Given the description of an element on the screen output the (x, y) to click on. 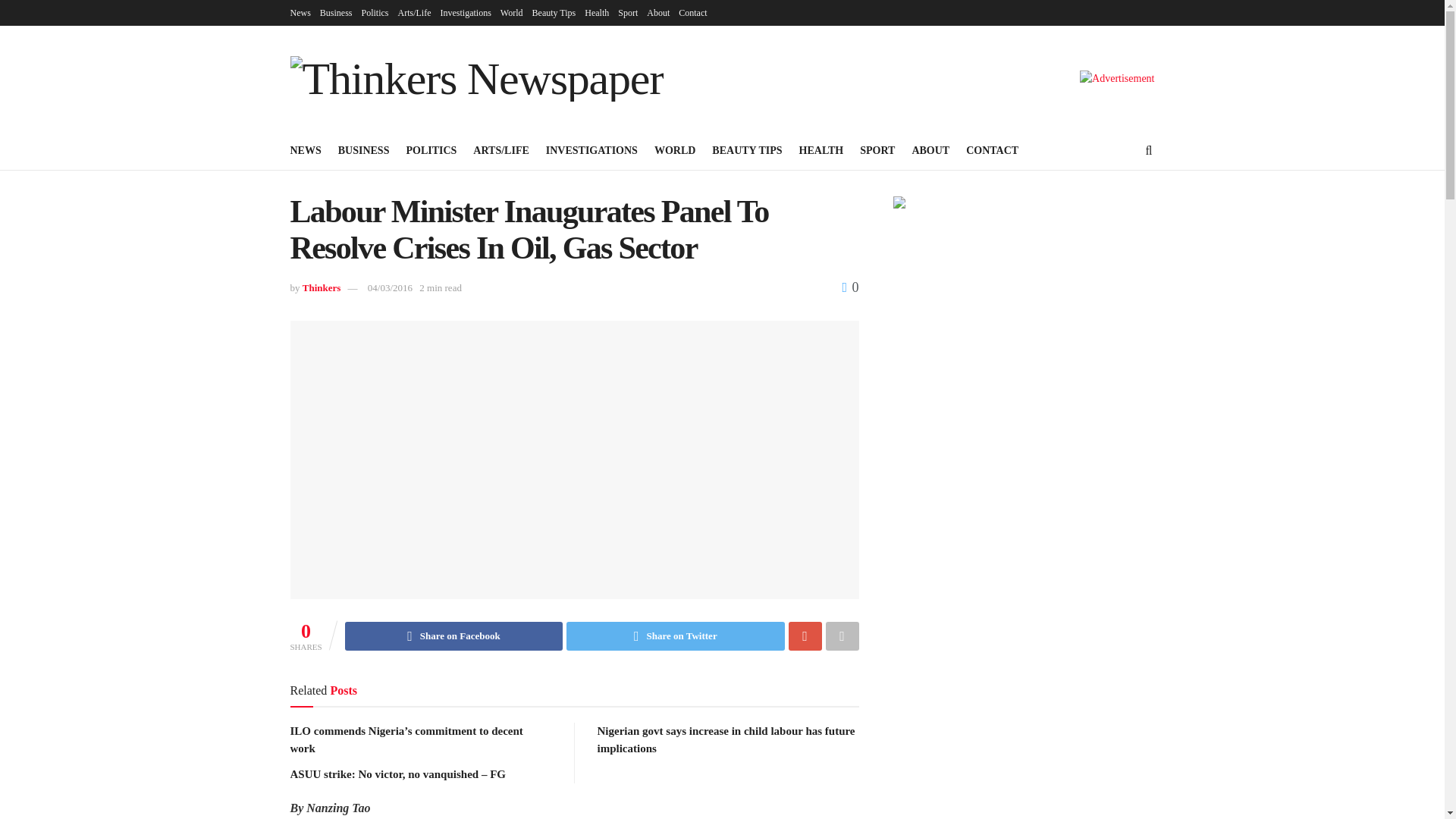
Contact (692, 12)
Politics (374, 12)
Beauty Tips (554, 12)
Health (596, 12)
BUSINESS (363, 150)
POLITICS (431, 150)
SPORT (877, 150)
CONTACT (991, 150)
WORLD (674, 150)
Business (336, 12)
NEWS (304, 150)
Investigations (466, 12)
BEAUTY TIPS (746, 150)
INVESTIGATIONS (591, 150)
HEALTH (821, 150)
